Given the description of an element on the screen output the (x, y) to click on. 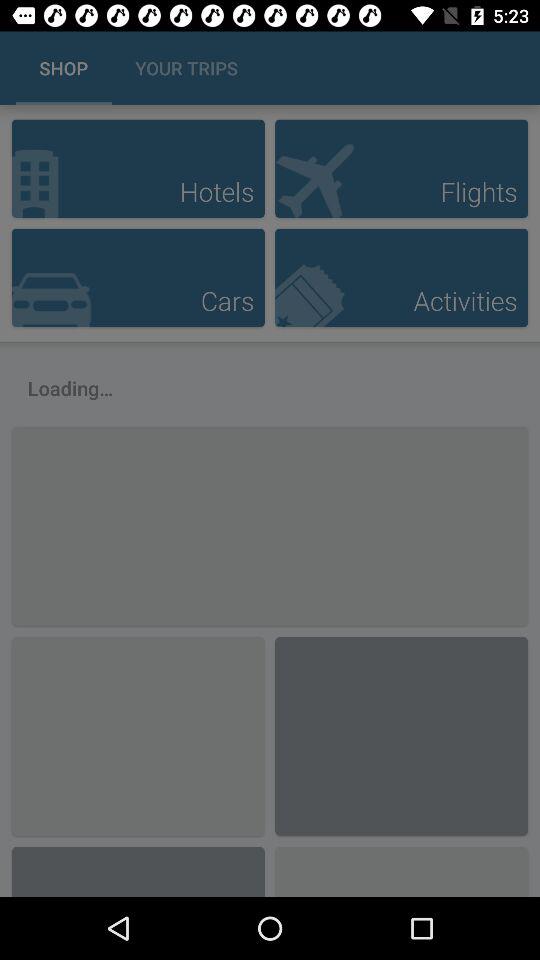
shop hotels (138, 168)
